Given the description of an element on the screen output the (x, y) to click on. 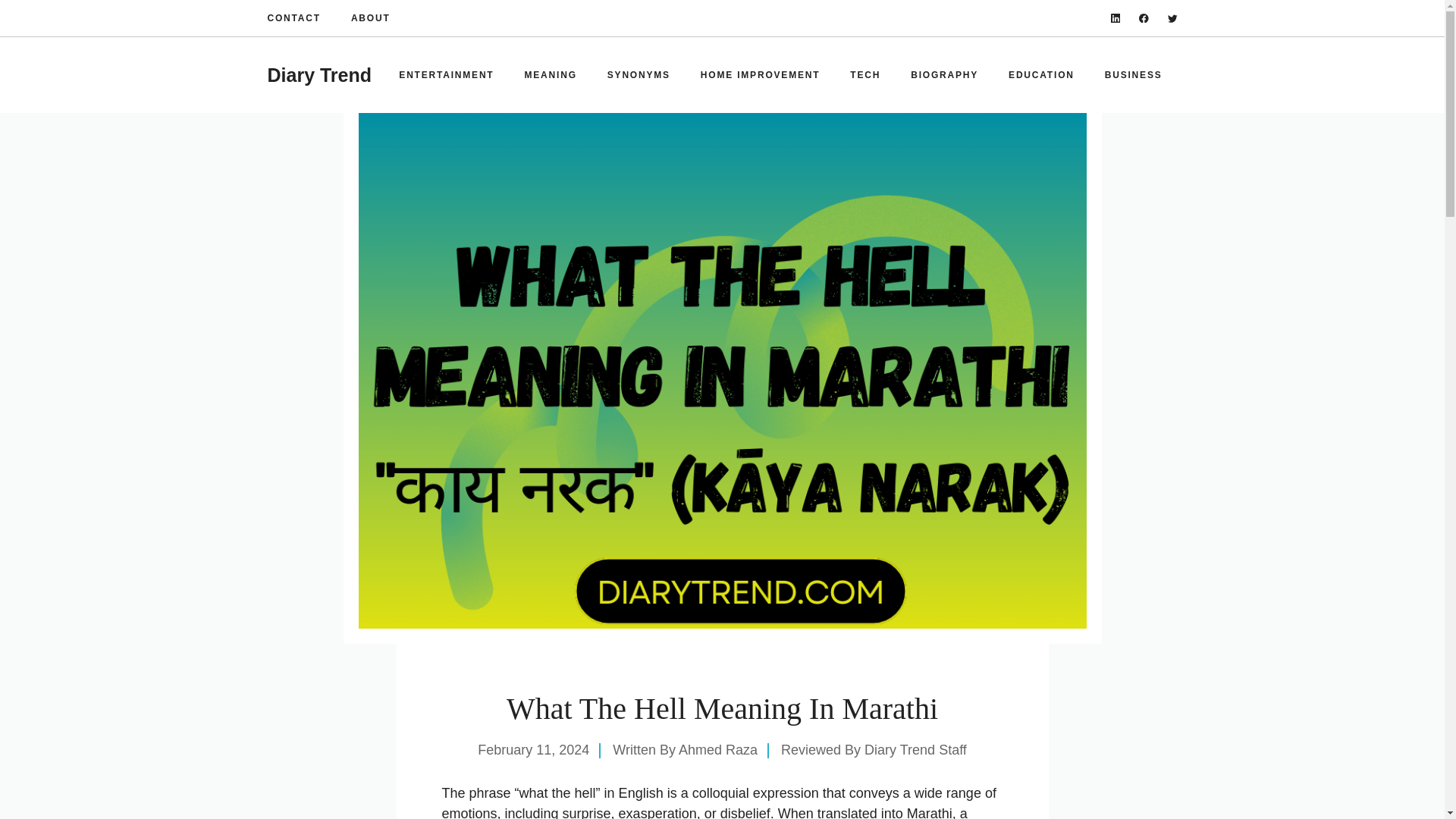
ABOUT (370, 18)
ENTERTAINMENT (446, 74)
MEANING (550, 74)
SYNONYMS (638, 74)
EDUCATION (1040, 74)
BUSINESS (1133, 74)
HOME IMPROVEMENT (759, 74)
TECH (864, 74)
BIOGRAPHY (943, 74)
Diary Trend (318, 74)
CONTACT (293, 18)
